Given the description of an element on the screen output the (x, y) to click on. 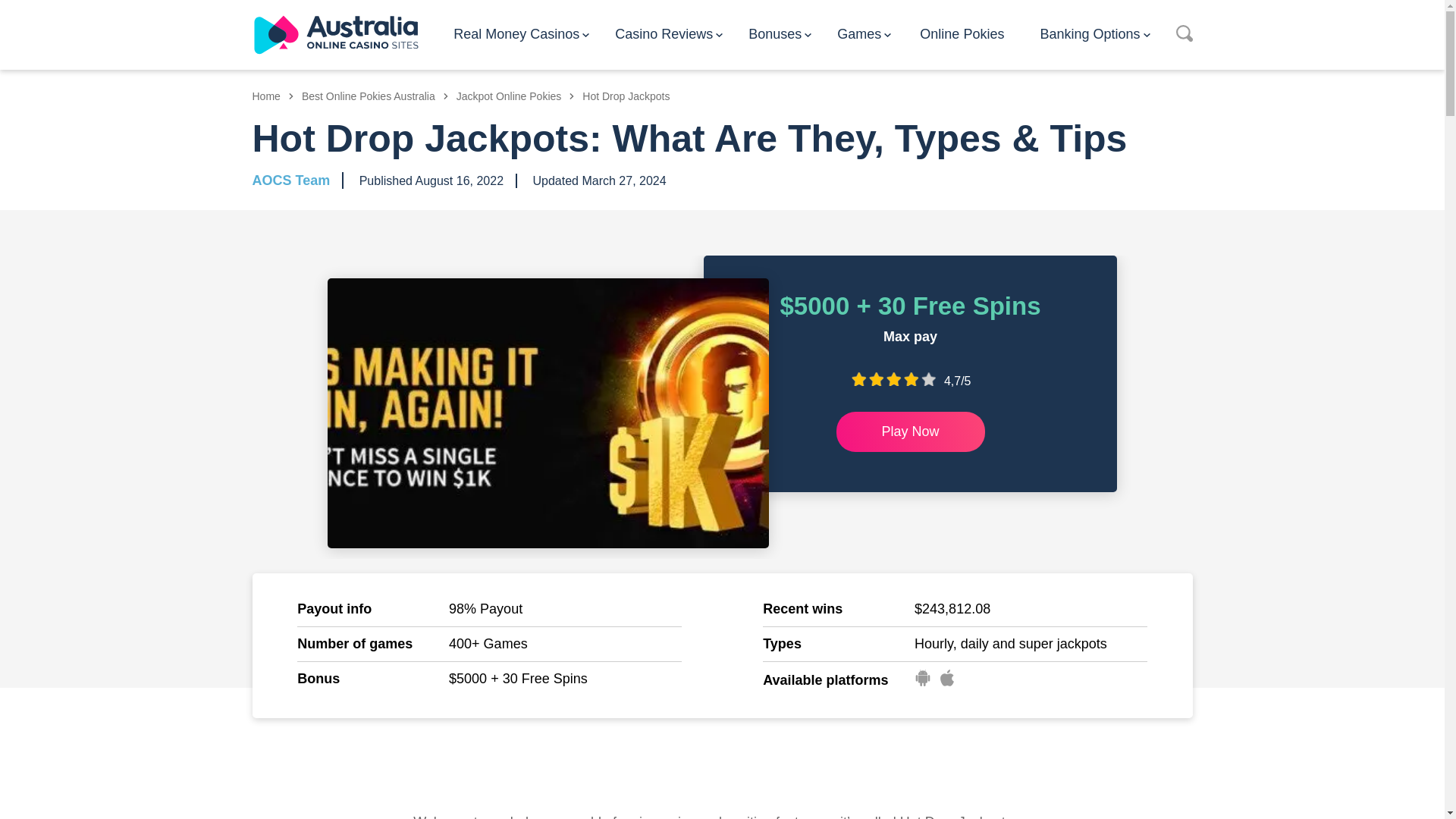
Australian Casino Sites (335, 34)
Bonuses (779, 33)
Online Pokies (966, 33)
Hot Drop Jackpots (625, 96)
Home (272, 96)
Banking Options (1094, 33)
Play Now (909, 431)
AOCS Team (290, 180)
Real Money Casinos (520, 33)
Casino Reviews (668, 33)
Games (864, 33)
Best Online Pokies Australia (374, 96)
Jackpot Online Pokies (516, 96)
